Given the description of an element on the screen output the (x, y) to click on. 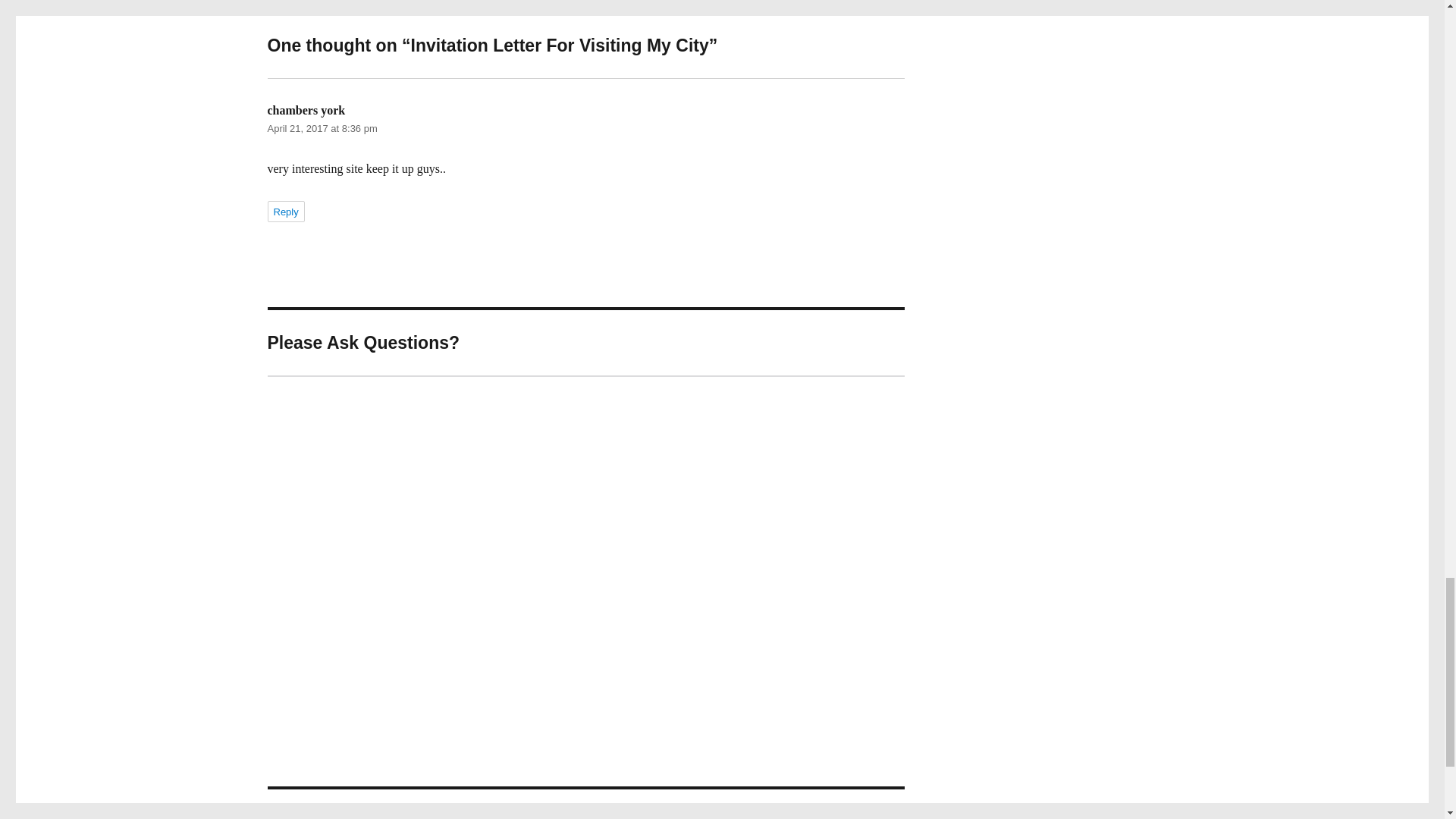
April 21, 2017 at 8:36 pm (321, 128)
Reply (285, 210)
